Given the description of an element on the screen output the (x, y) to click on. 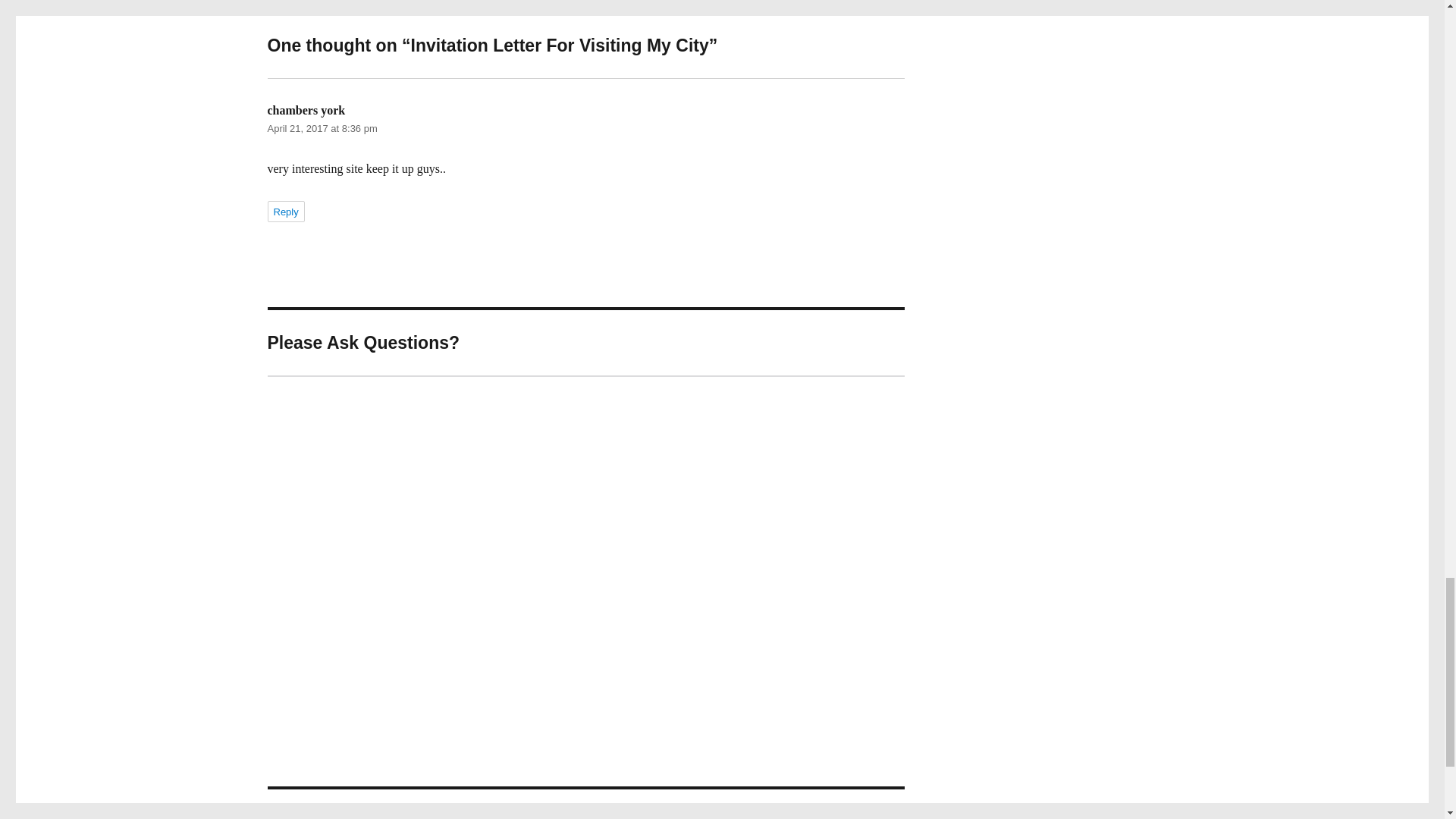
April 21, 2017 at 8:36 pm (321, 128)
Reply (285, 210)
